Given the description of an element on the screen output the (x, y) to click on. 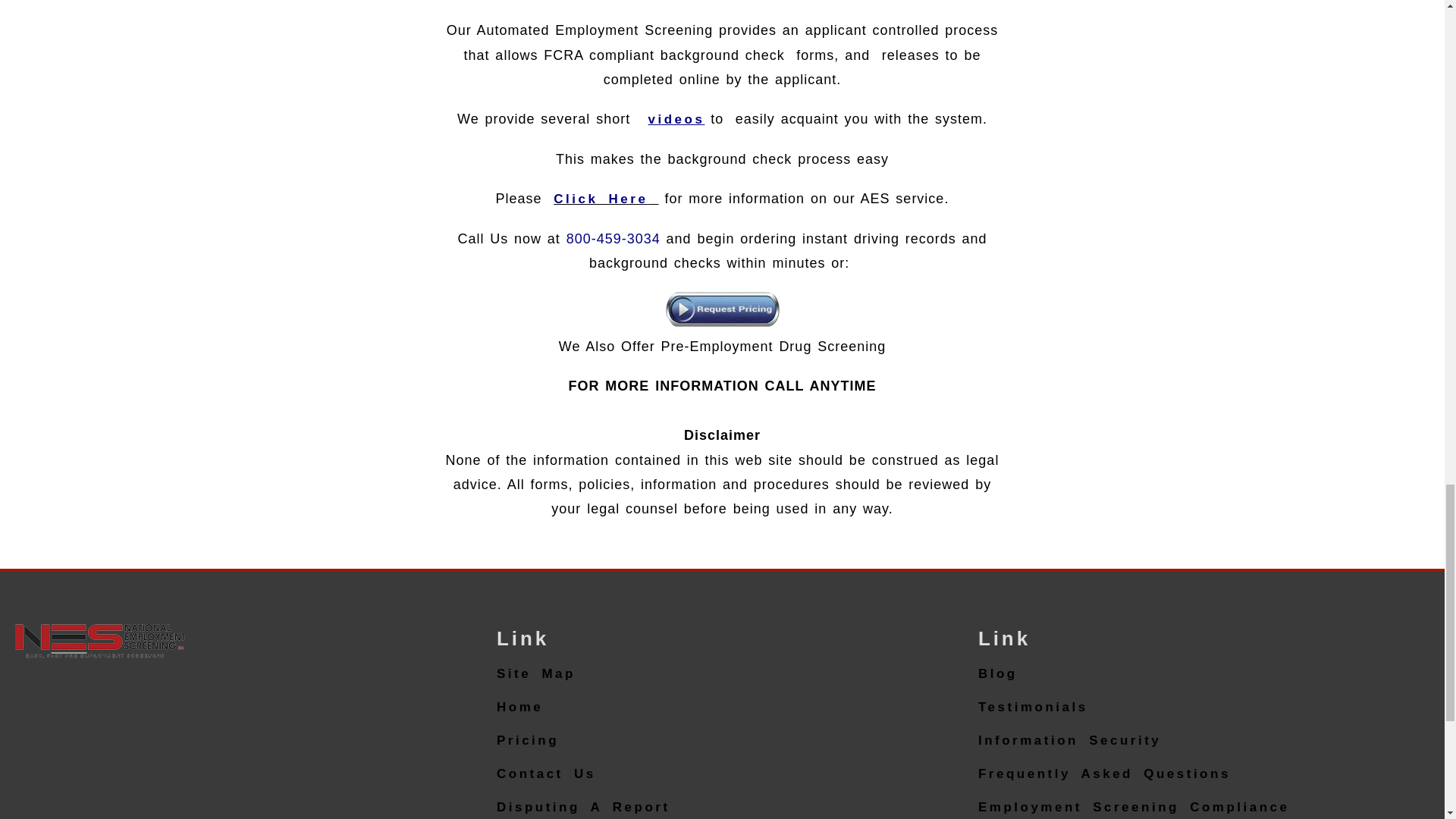
Disputing A Report (582, 803)
Blog (997, 673)
Contact Us (545, 773)
Employment Screening Compliance (1134, 803)
Pricing (527, 740)
Information Security (1069, 740)
videos (675, 119)
Home (519, 706)
Testimonials (1032, 706)
Click Here  (605, 198)
Site Map (535, 673)
Frequently Asked Questions (1104, 773)
